Given the description of an element on the screen output the (x, y) to click on. 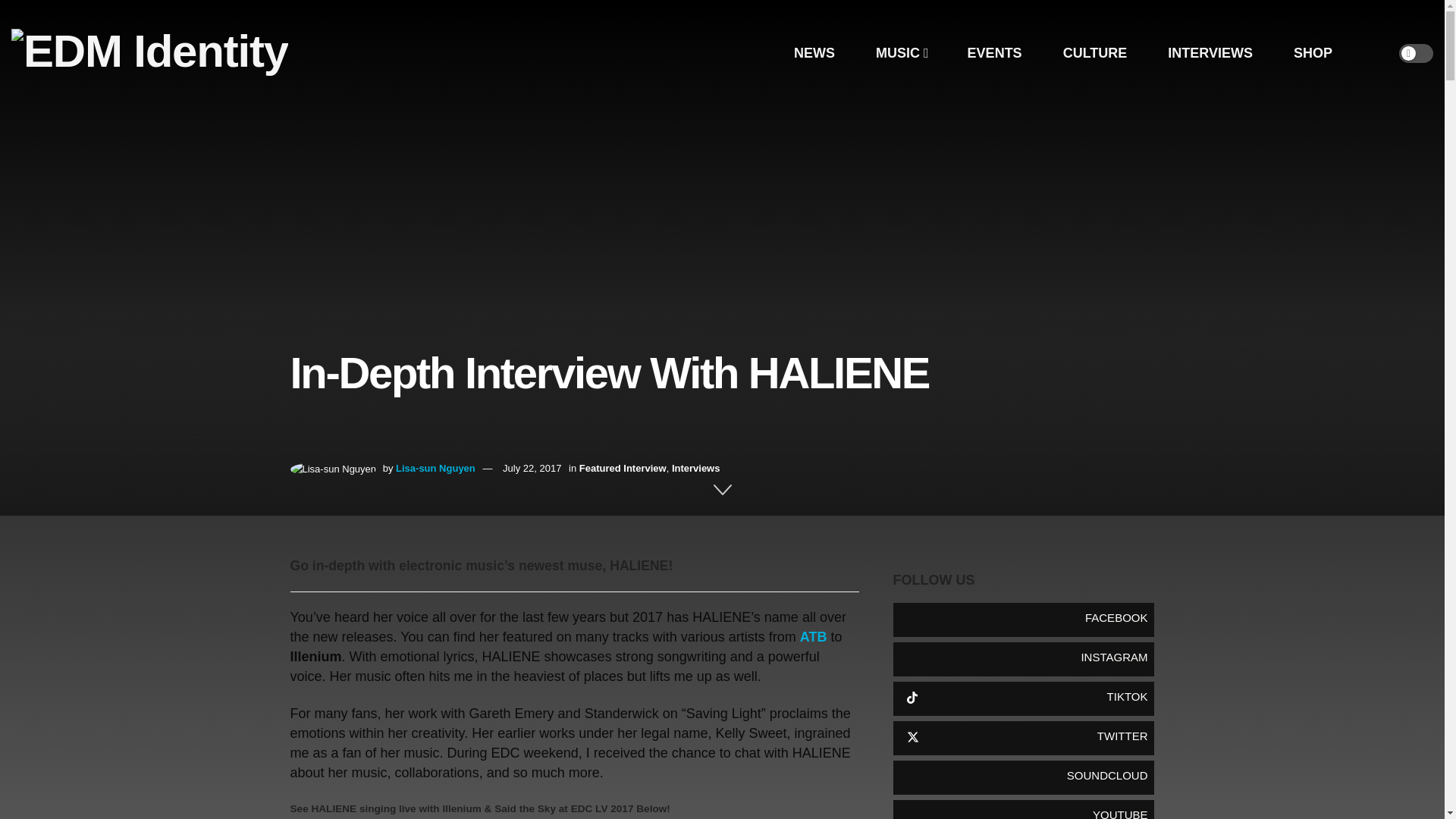
CULTURE (1095, 53)
INTERVIEWS (1210, 53)
EVENTS (994, 53)
Lisa-sun Nguyen (436, 468)
MUSIC (901, 53)
ATB (813, 636)
July 22, 2017 (531, 468)
NEWS (814, 53)
SHOP (1312, 53)
Featured Interview (622, 468)
Interviews (695, 468)
